Given the description of an element on the screen output the (x, y) to click on. 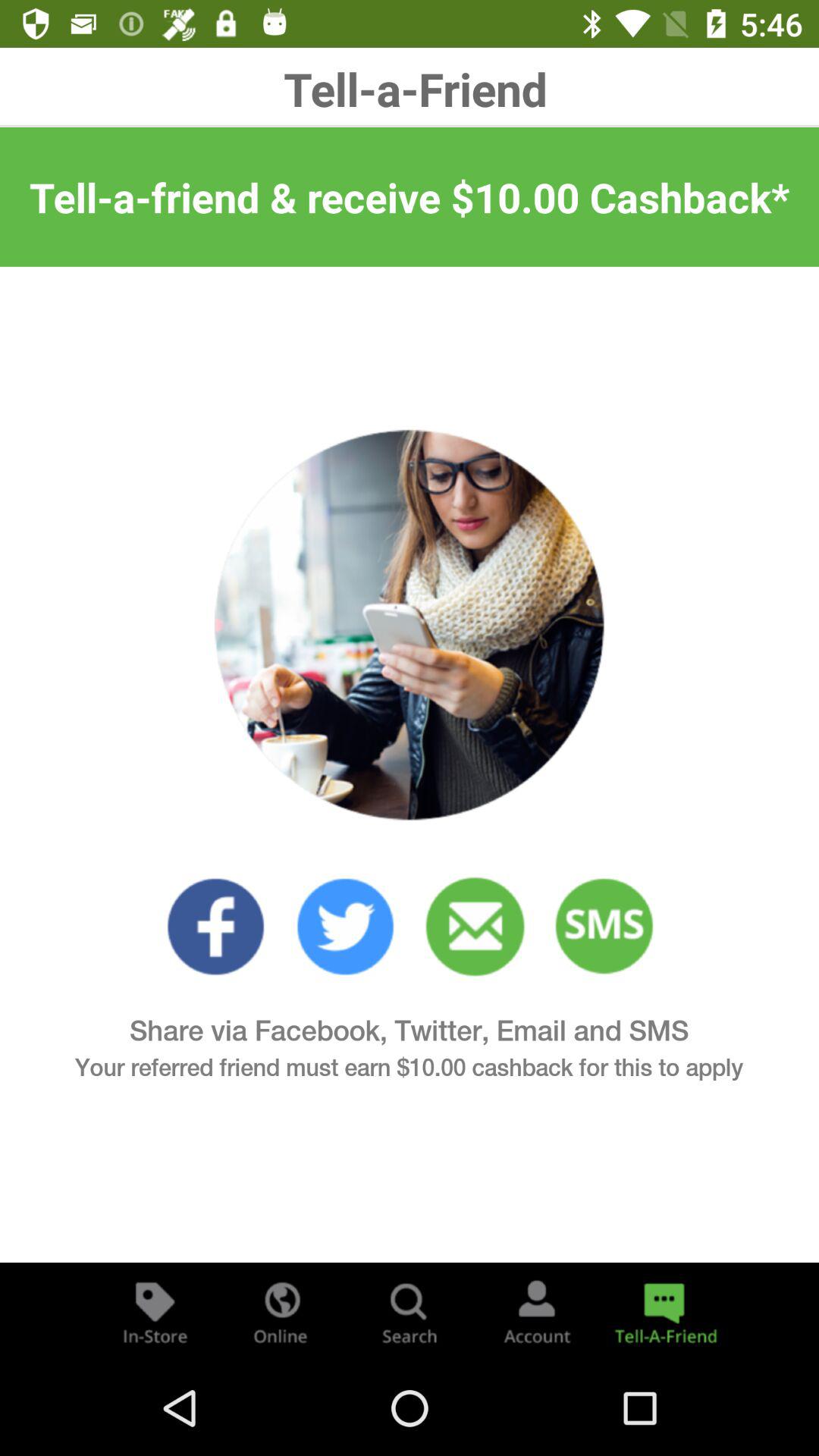
share in facebook (215, 926)
